Given the description of an element on the screen output the (x, y) to click on. 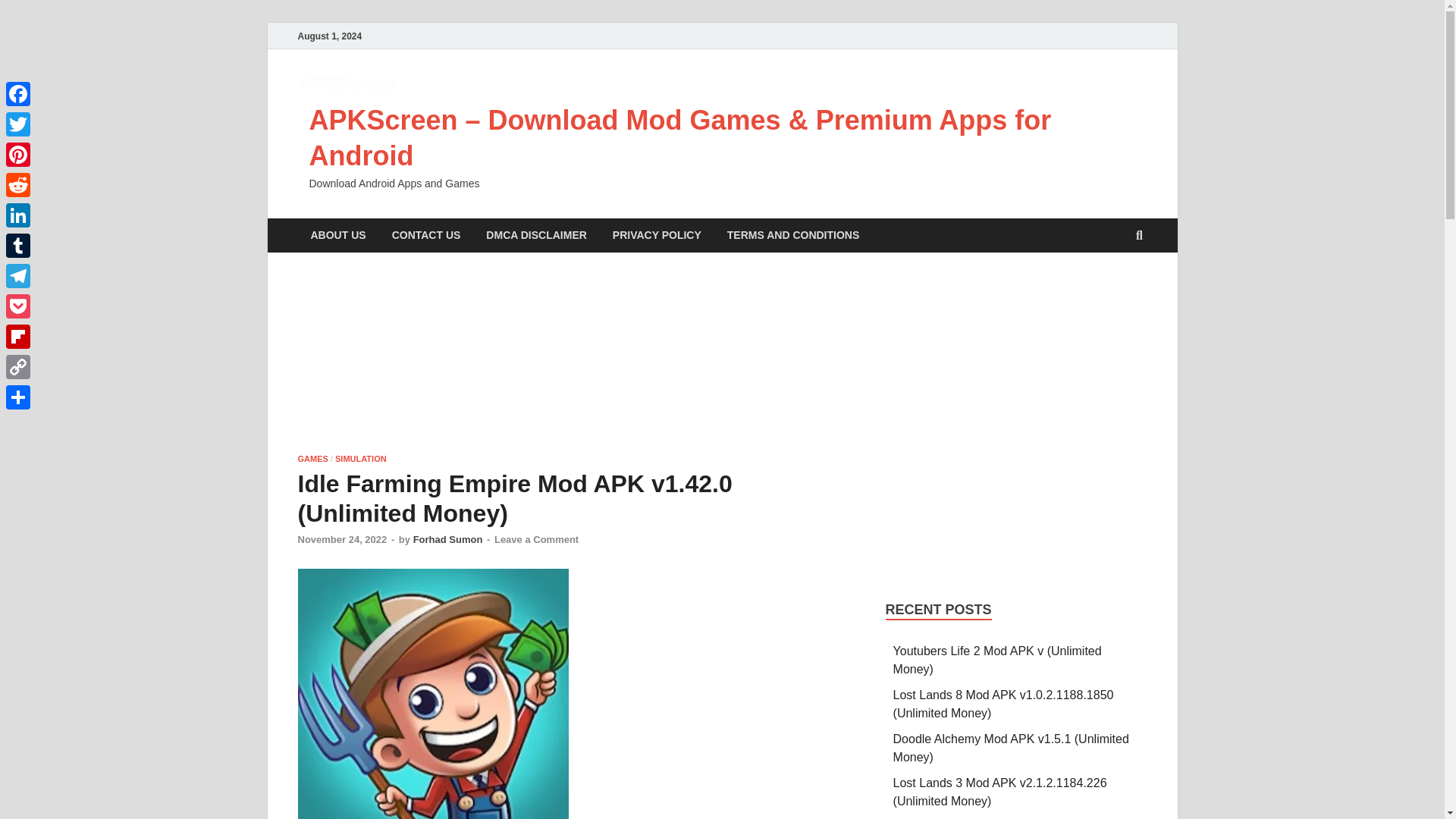
DMCA DISCLAIMER (535, 235)
CONTACT US (426, 235)
SIMULATION (360, 458)
ABOUT US (337, 235)
GAMES (312, 458)
November 24, 2022 (342, 539)
TERMS AND CONDITIONS (793, 235)
PRIVACY POLICY (656, 235)
Leave a Comment (536, 539)
Forhad Sumon (448, 539)
